Given the description of an element on the screen output the (x, y) to click on. 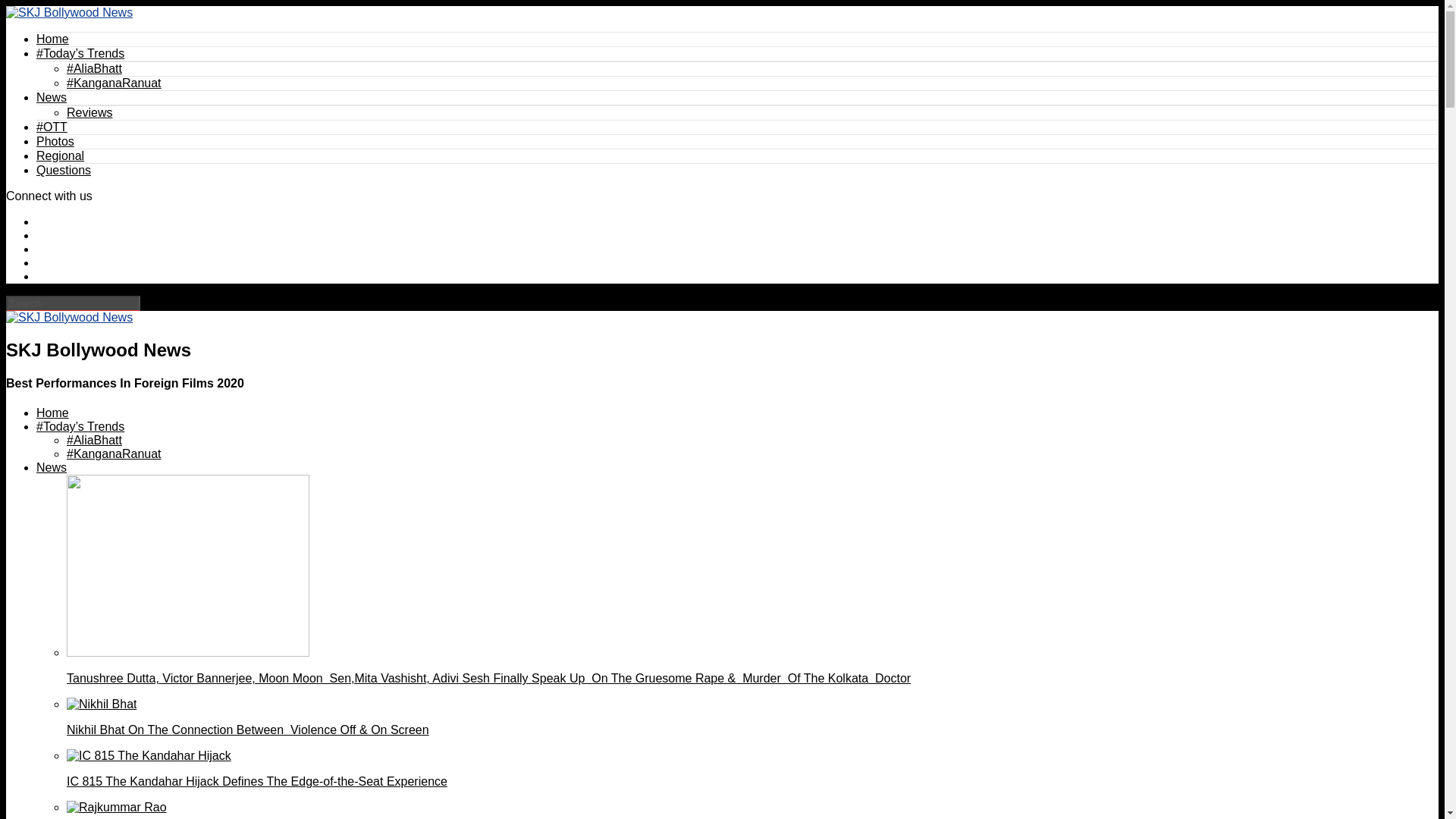
News (51, 97)
Regional (60, 155)
News (51, 467)
Photos (55, 141)
Home (52, 412)
Questions (63, 169)
Search (72, 303)
Home (52, 38)
Reviews (89, 112)
